Given the description of an element on the screen output the (x, y) to click on. 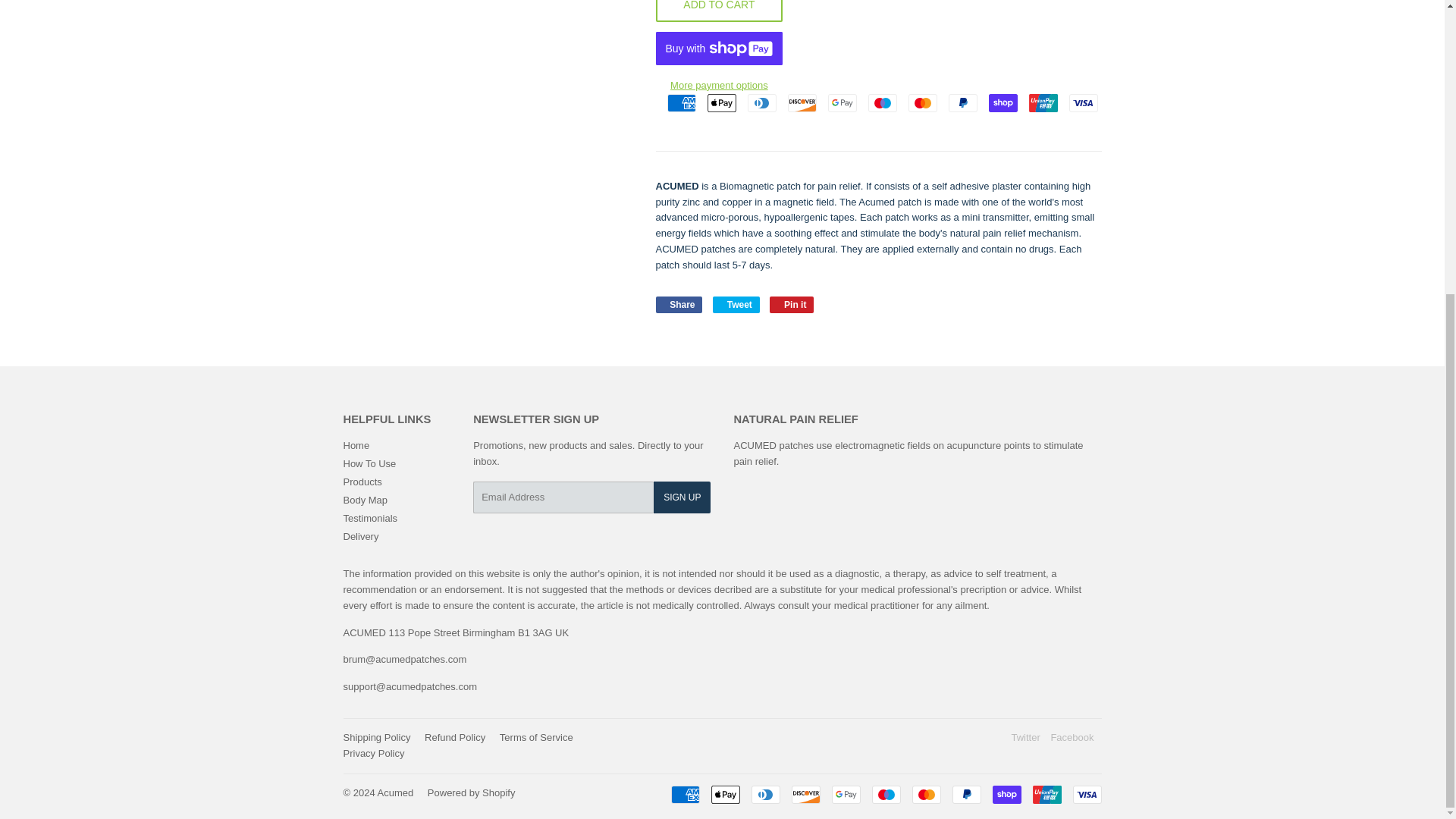
Shipping Policy (376, 737)
Google Pay (845, 794)
Acumed on Twitter (1024, 737)
Diners Club (762, 103)
Union Pay (1042, 103)
Delivery (360, 536)
Terms of Service (536, 737)
Refund Policy (454, 737)
American Express (680, 103)
Discover (801, 103)
